Given the description of an element on the screen output the (x, y) to click on. 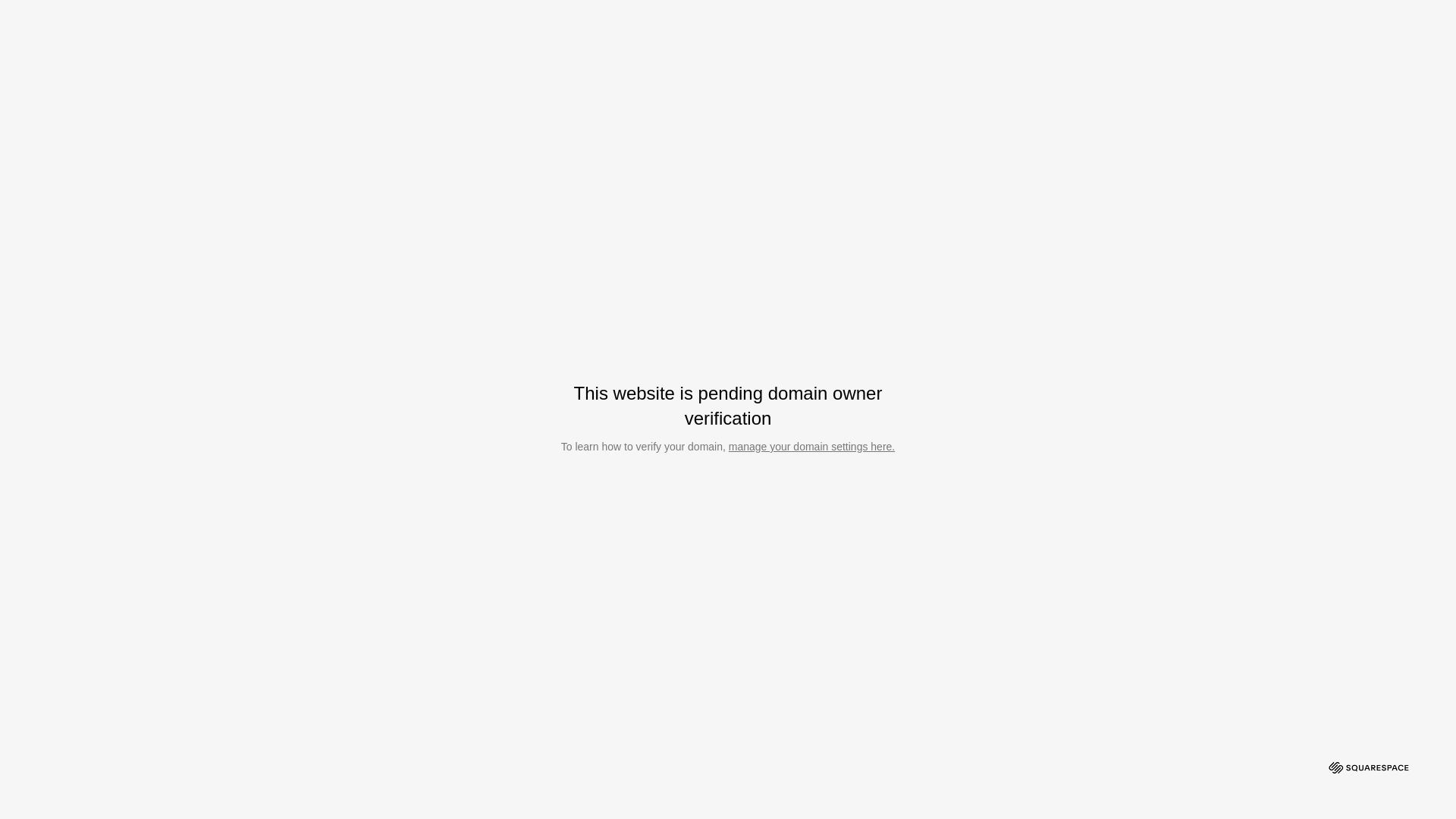
manage your domain settings here. Element type: text (811, 446)
